Given the description of an element on the screen output the (x, y) to click on. 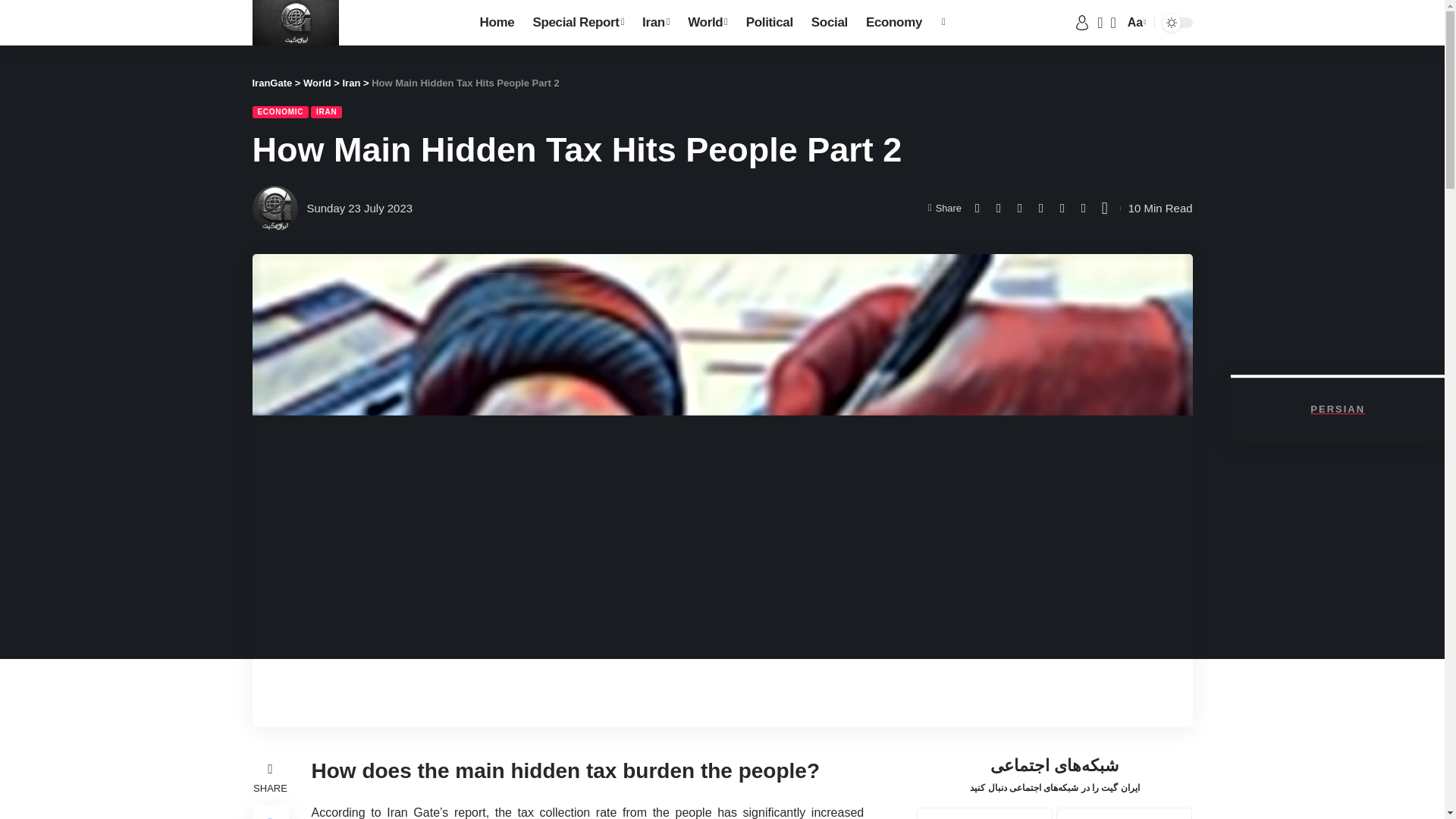
Home (497, 22)
IranGate (294, 22)
Special Report (577, 22)
